Given the description of an element on the screen output the (x, y) to click on. 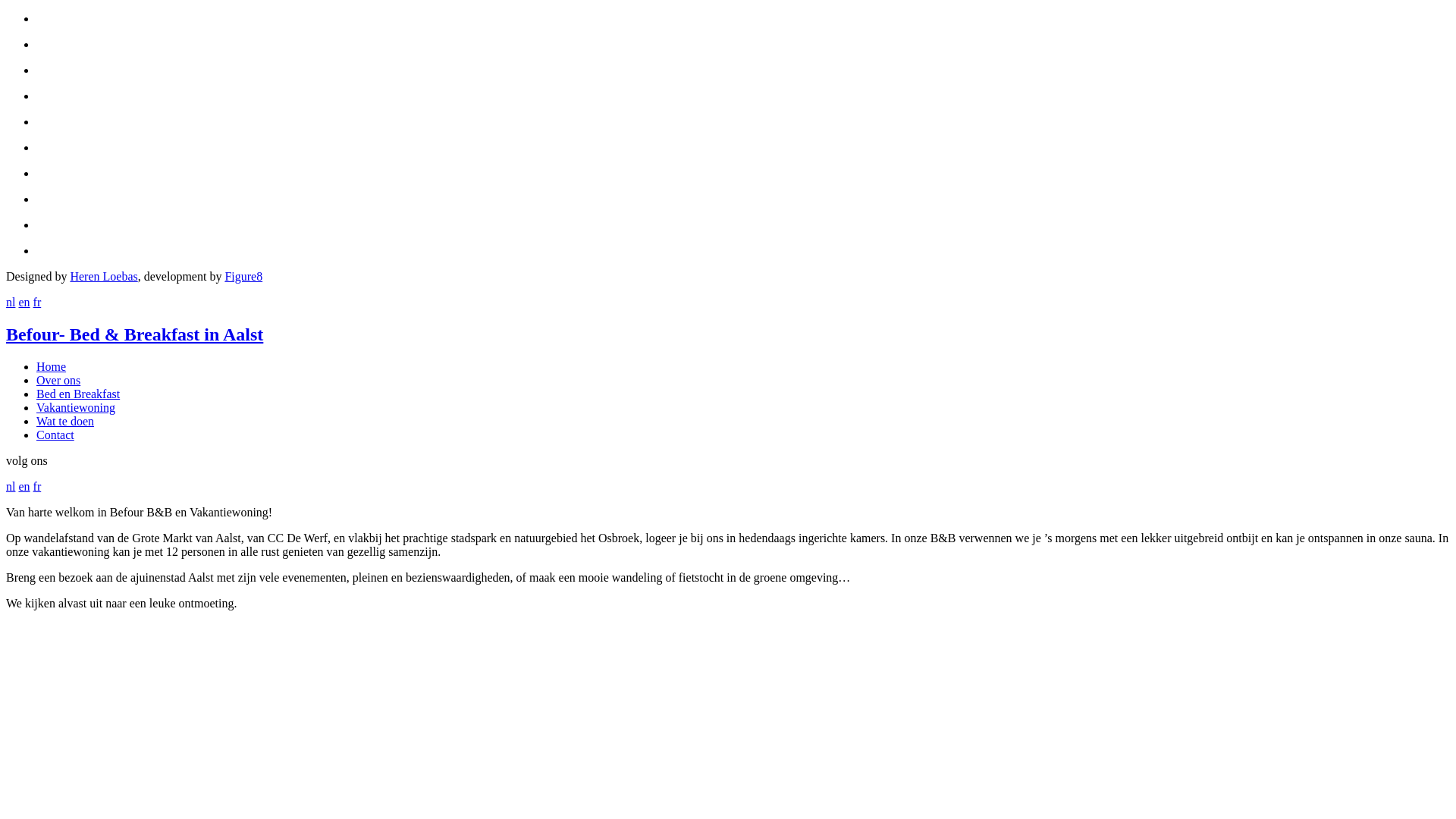
nl Element type: text (10, 301)
Figure8 Element type: text (243, 275)
Befour- Bed & Breakfast in Aalst Element type: text (134, 334)
Wat te doen Element type: text (65, 420)
Heren Loebas Element type: text (103, 275)
Vakantiewoning Element type: text (75, 407)
fr Element type: text (37, 301)
en Element type: text (23, 486)
fr Element type: text (37, 486)
Over ons Element type: text (58, 379)
Bed en Breakfast Element type: text (77, 393)
en Element type: text (23, 301)
Contact Element type: text (55, 434)
nl Element type: text (10, 486)
Home Element type: text (50, 366)
